Given the description of an element on the screen output the (x, y) to click on. 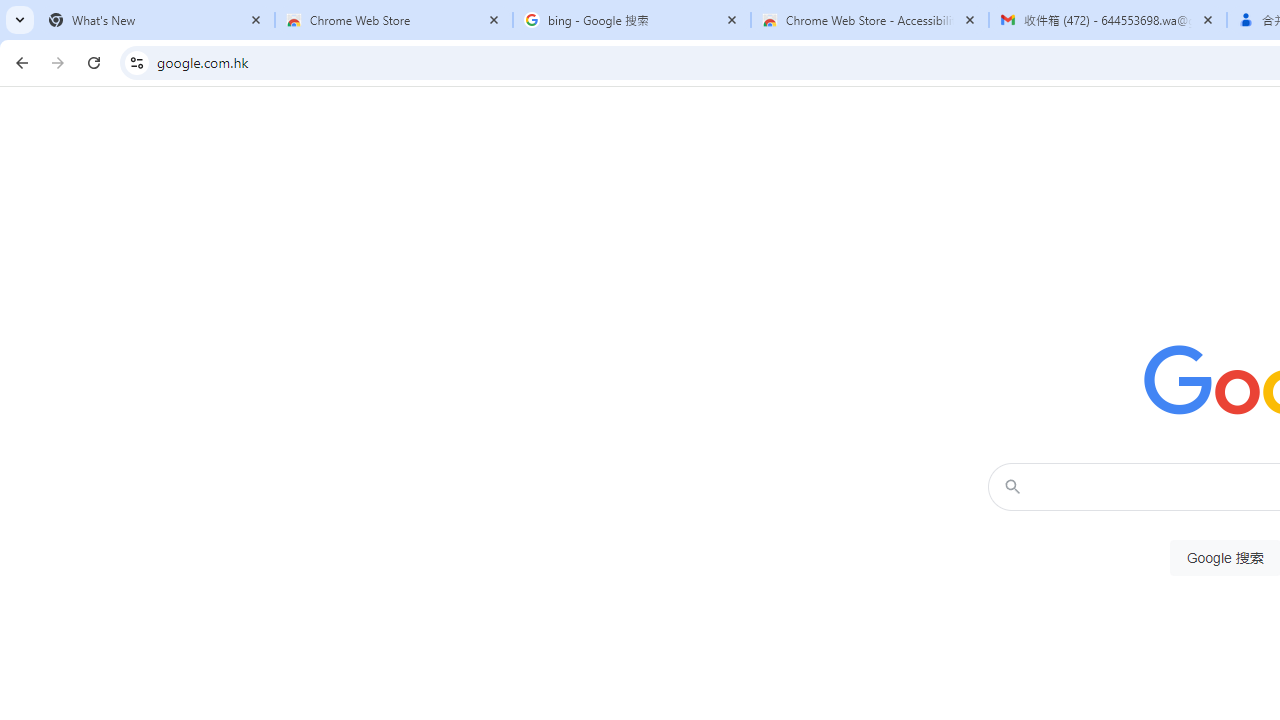
Chrome Web Store (394, 20)
What's New (156, 20)
Chrome Web Store - Accessibility (870, 20)
